Given the description of an element on the screen output the (x, y) to click on. 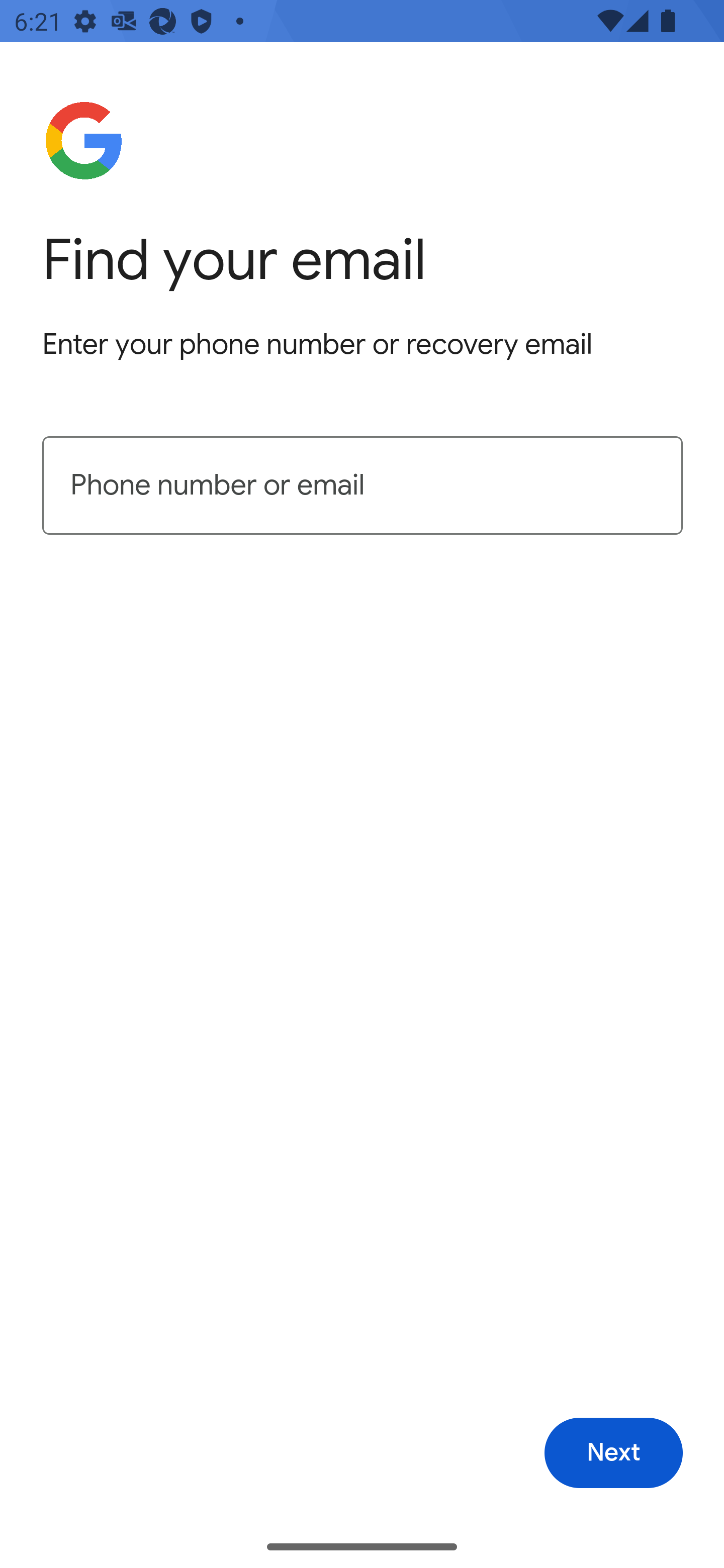
Next (613, 1453)
